Given the description of an element on the screen output the (x, y) to click on. 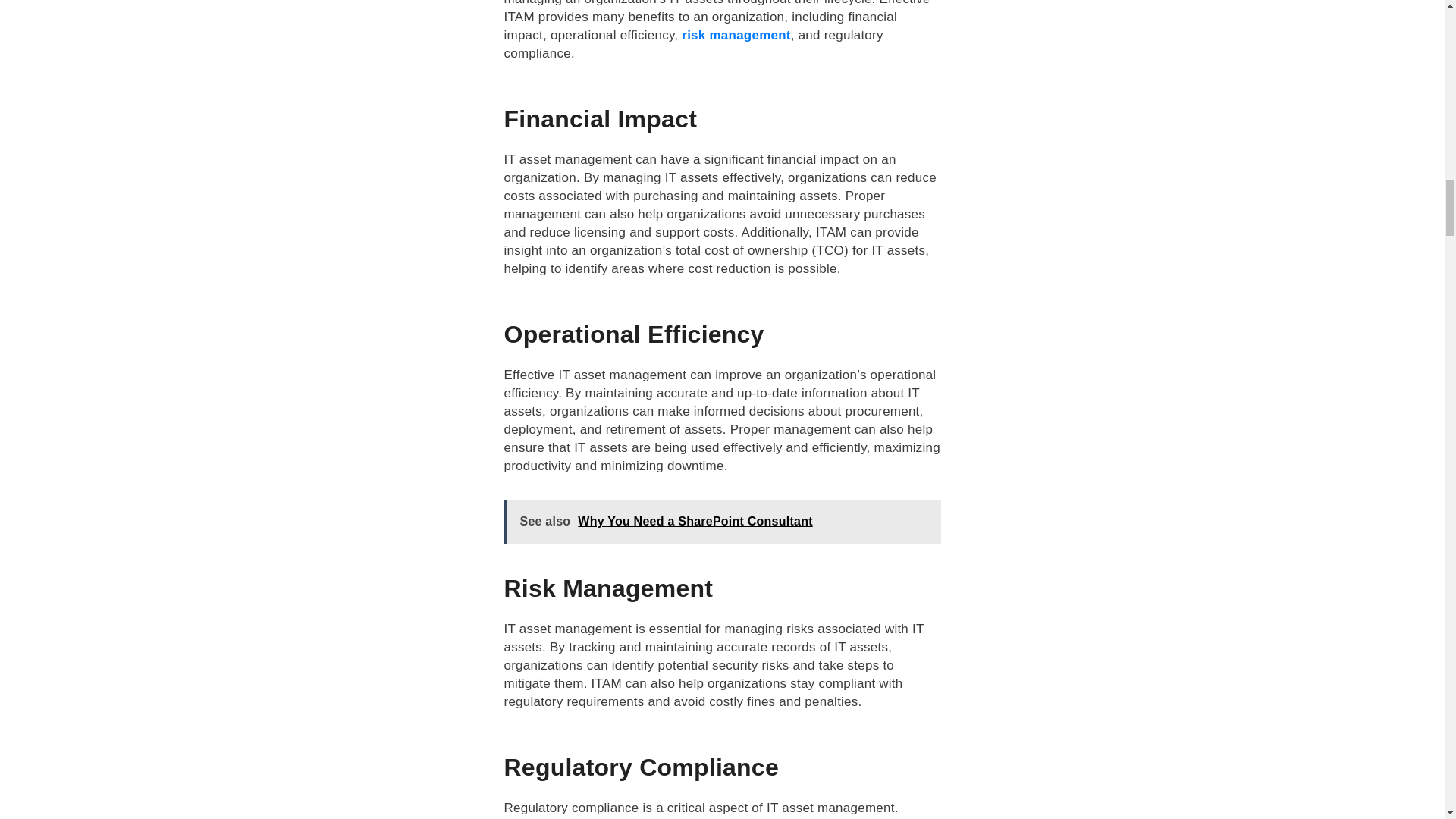
risk management (735, 34)
See also  Why You Need a SharePoint Consultant (721, 521)
